Given the description of an element on the screen output the (x, y) to click on. 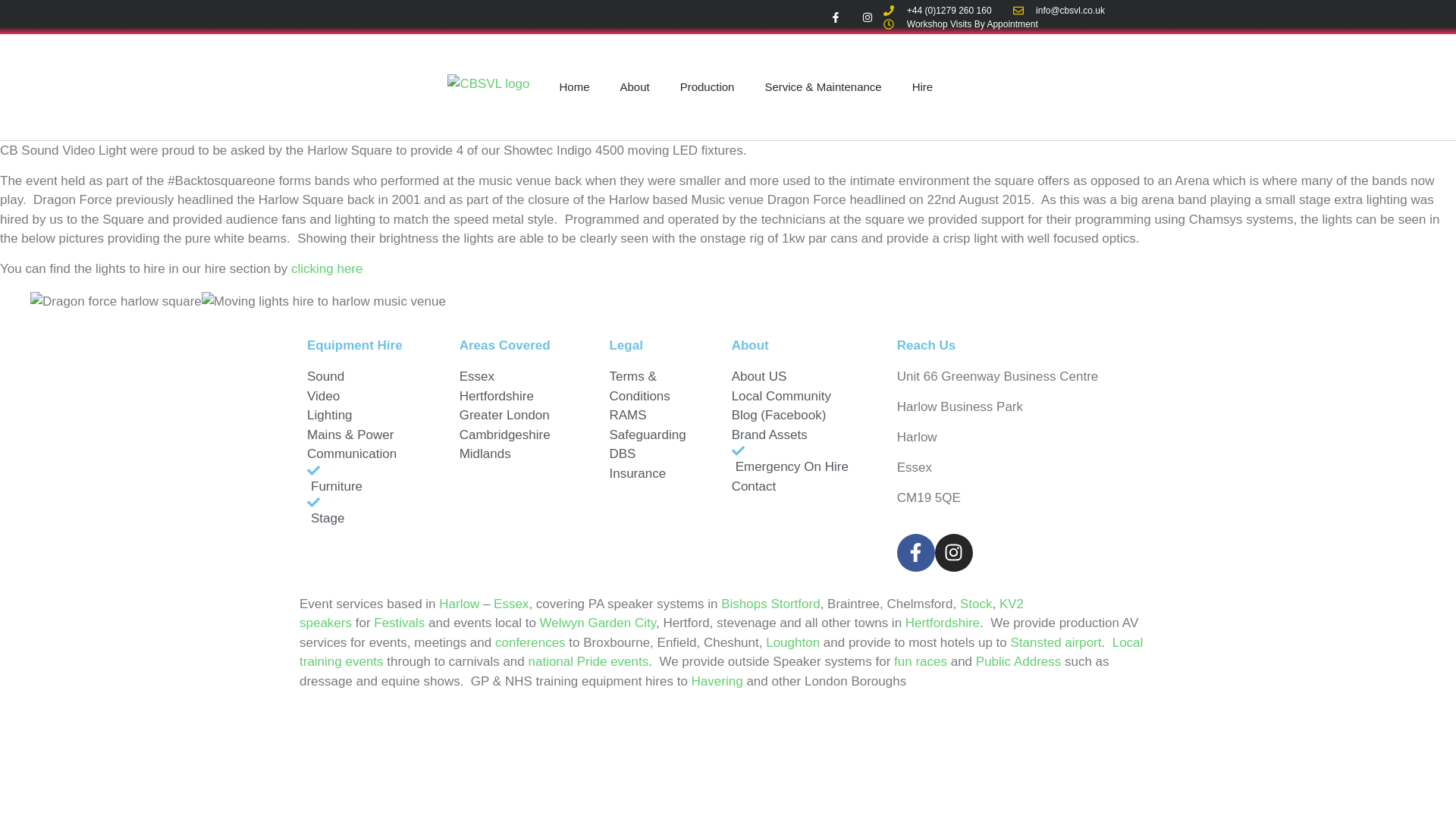
Hired lighting for dragonforce one off uk tour date 1 (116, 301)
Link to hire stock moving light pages (326, 268)
Hired lighting for dragonforce one off uk tour date 2 (323, 301)
